Given the description of an element on the screen output the (x, y) to click on. 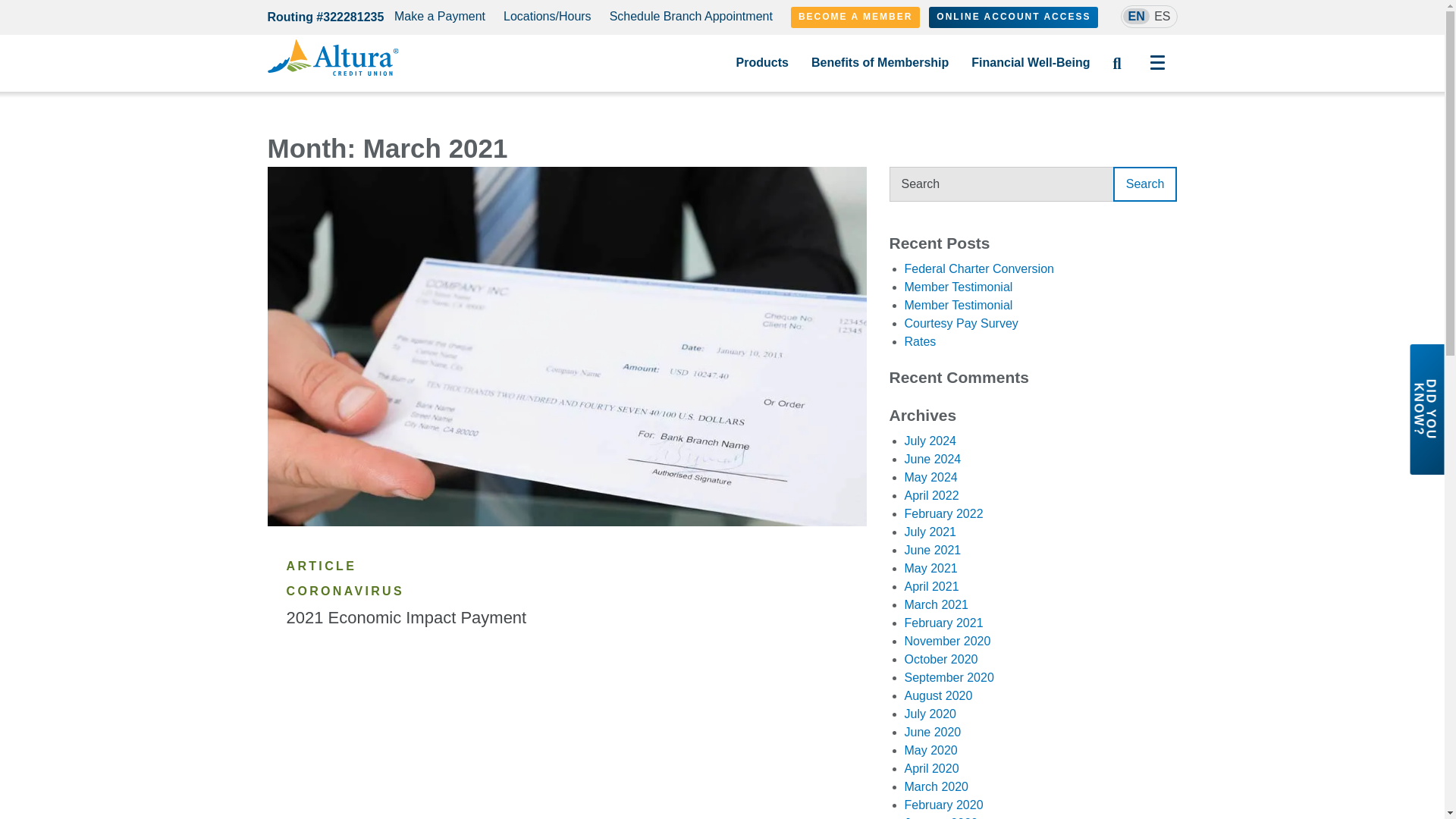
Products (762, 63)
Make a Payment (439, 17)
Spanish (1163, 16)
ES (1163, 16)
English (1135, 16)
EN (1135, 16)
altura (331, 57)
ONLINE ACCOUNT ACCESS (1012, 16)
BECOME A MEMBER (855, 16)
Schedule Branch Appointment (691, 17)
